Given the description of an element on the screen output the (x, y) to click on. 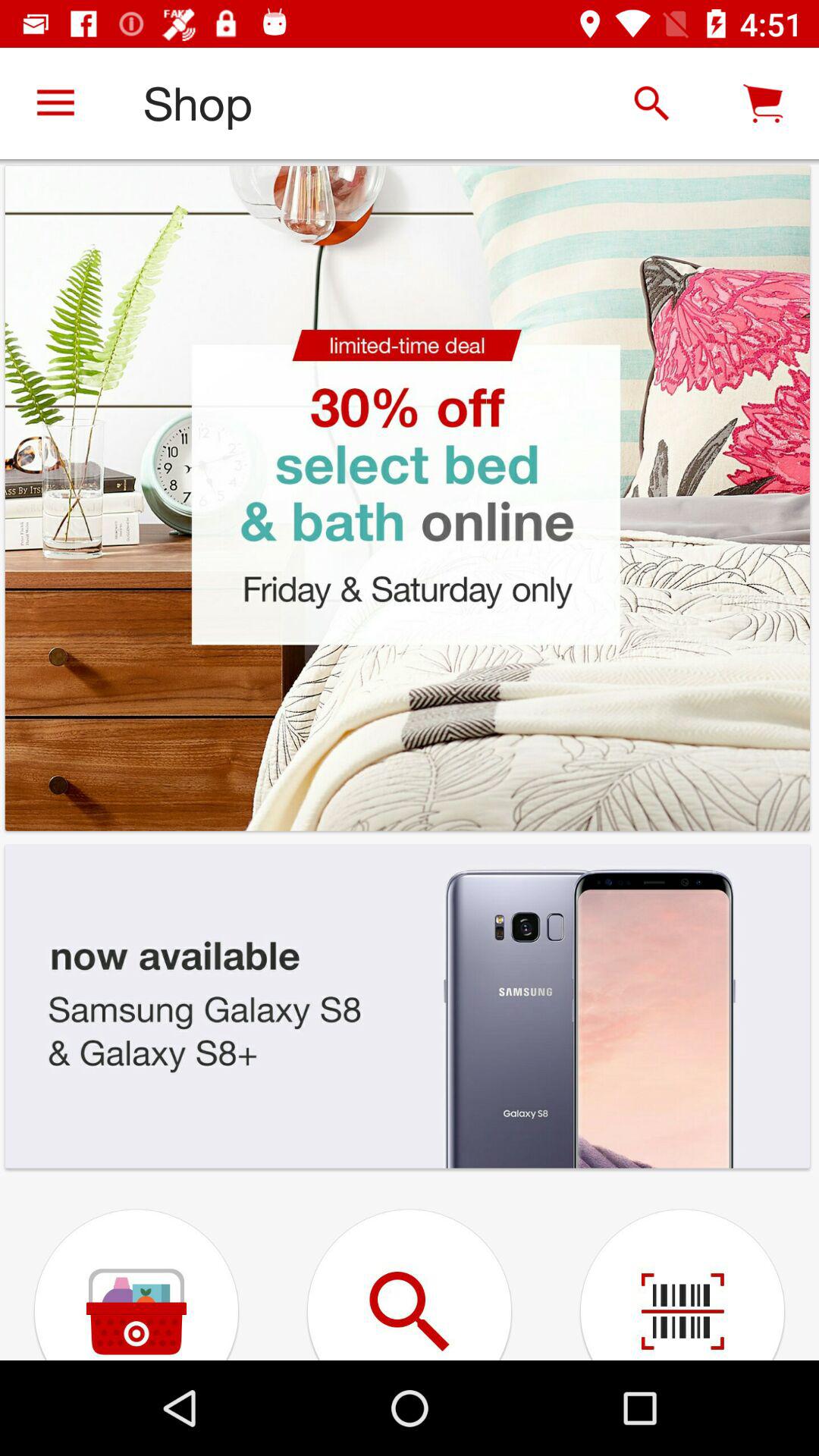
select the icon to the right of the shop icon (651, 103)
